Given the description of an element on the screen output the (x, y) to click on. 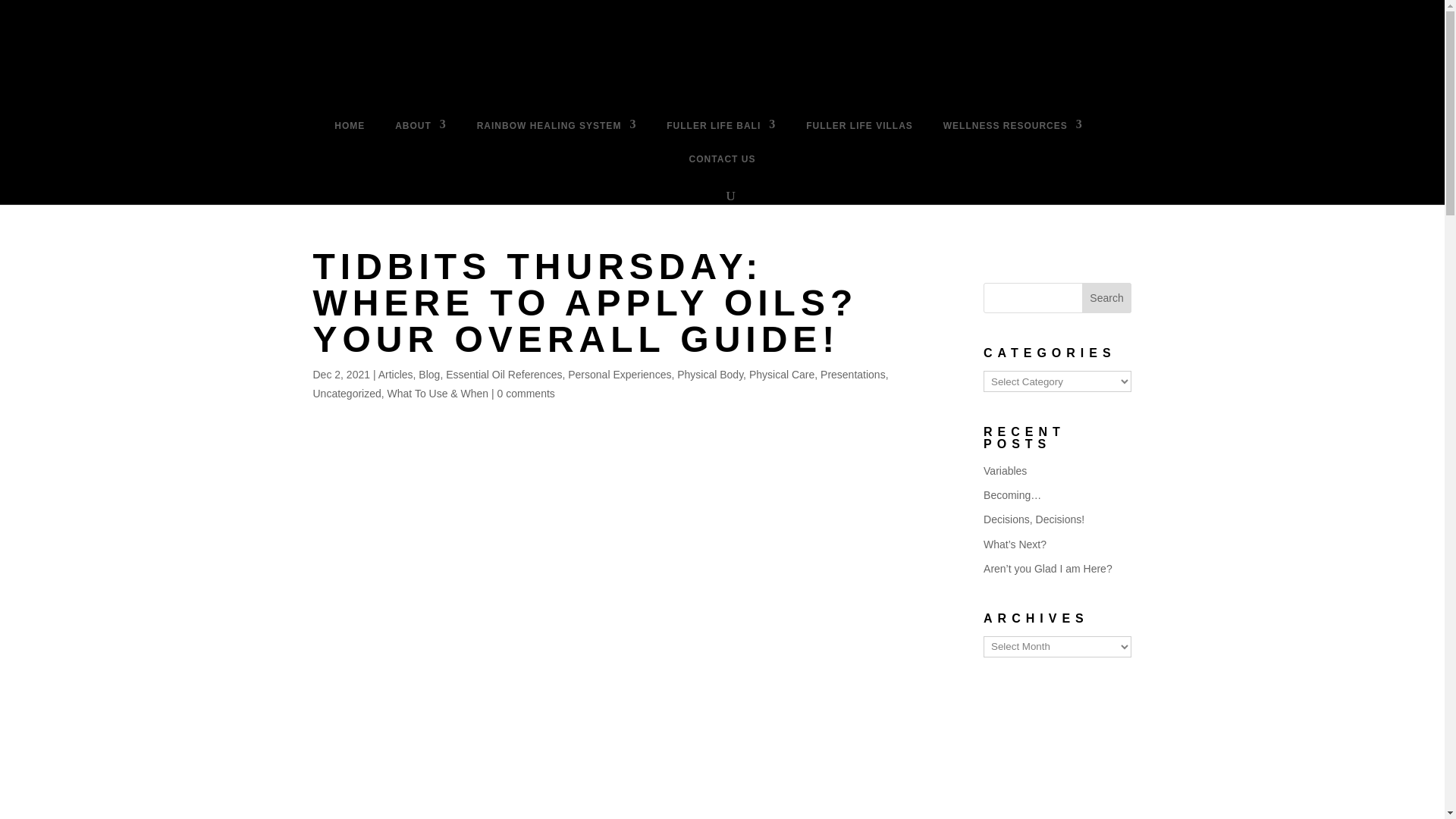
Blog (429, 374)
Essential Oil References (503, 374)
FULLER LIFE BALI (721, 129)
WELLNESS RESOURCES (1013, 129)
FULLER LIFE VILLAS (859, 129)
Uncategorized (346, 393)
Search (1106, 297)
Personal Experiences (619, 374)
Physical Care (781, 374)
HOME (349, 129)
0 comments (525, 393)
ABOUT (420, 129)
RAINBOW HEALING SYSTEM (557, 129)
Physical Body (709, 374)
Articles (395, 374)
